Given the description of an element on the screen output the (x, y) to click on. 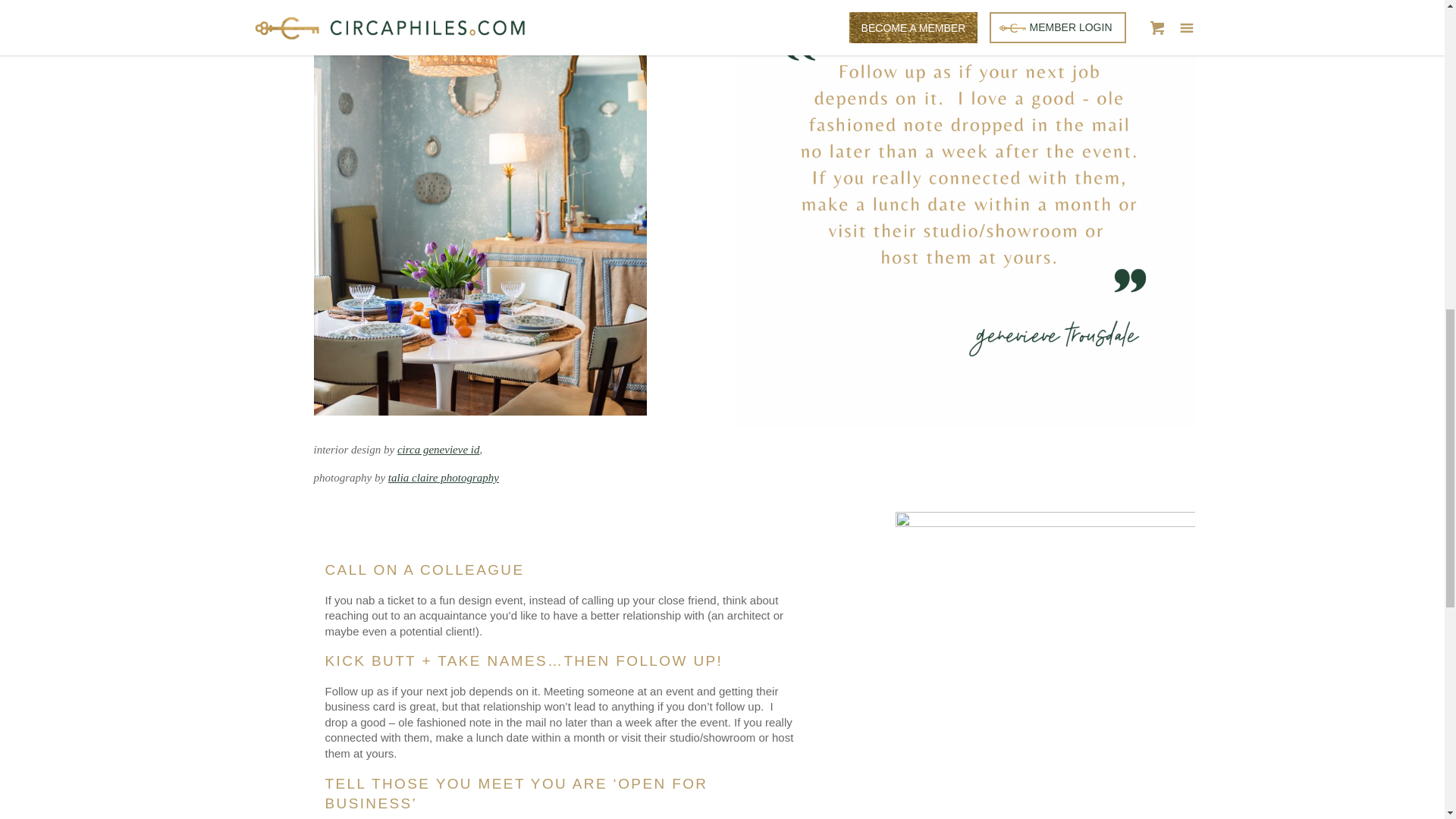
talia claire photography (443, 477)
circa genevieve id (438, 449)
